Given the description of an element on the screen output the (x, y) to click on. 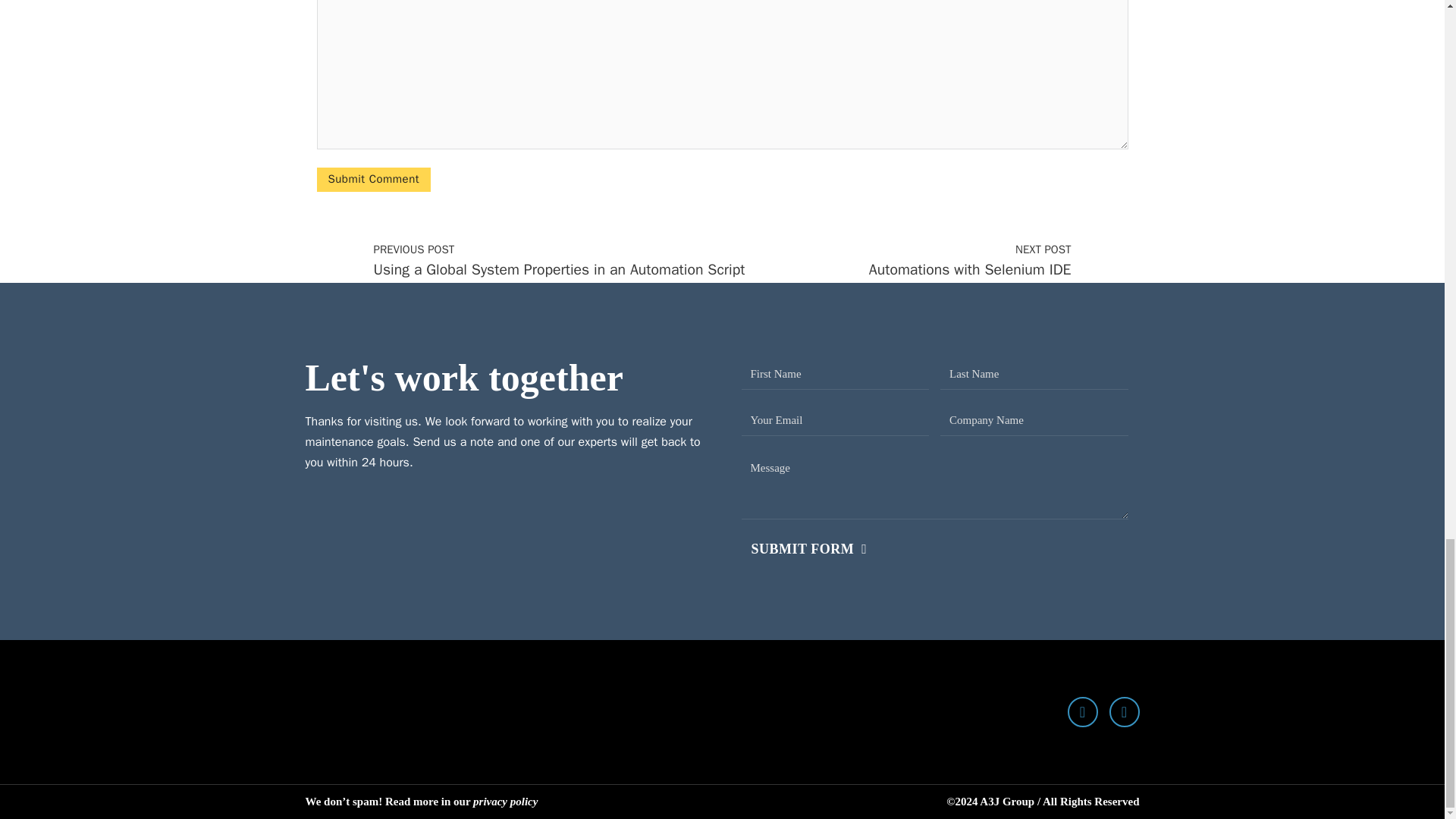
Submit Comment (373, 179)
Submit Comment (373, 179)
